Given the description of an element on the screen output the (x, y) to click on. 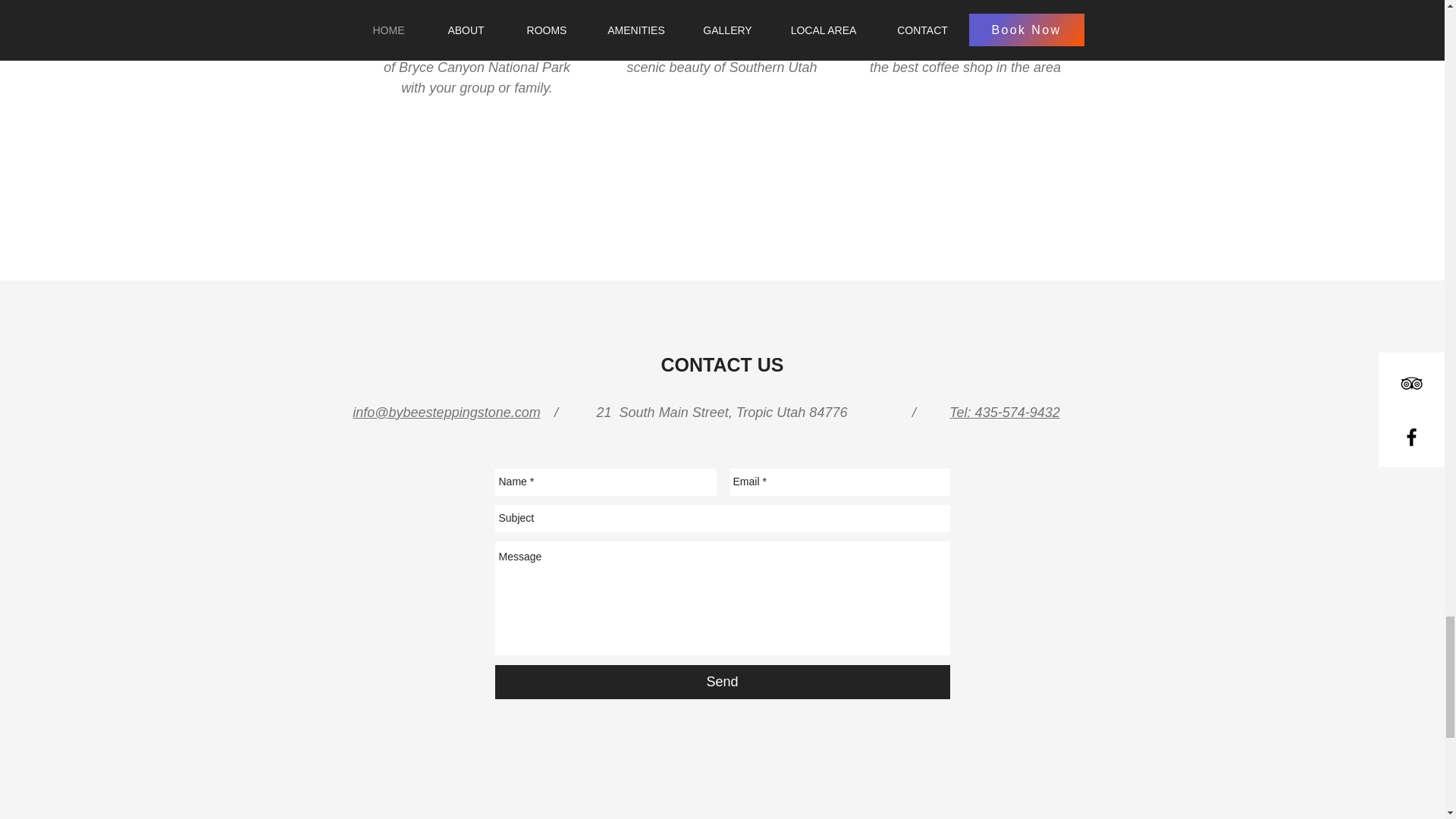
Fresh Coffee (965, 6)
Send (722, 682)
Tel: 435-574-9432 (1004, 412)
Hiking Guides (476, 6)
